Given the description of an element on the screen output the (x, y) to click on. 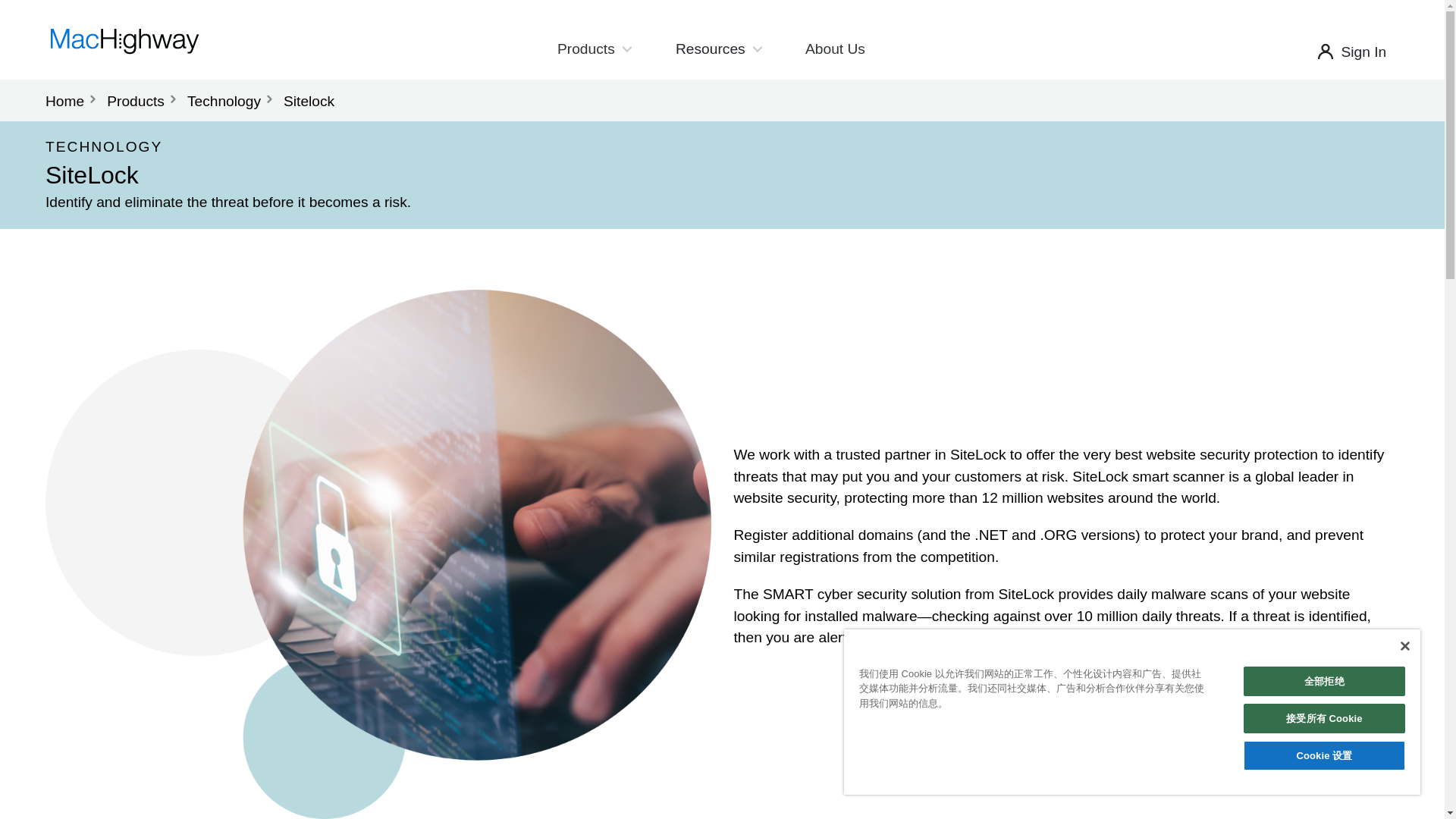
Resources (718, 48)
Products (593, 48)
About Us (834, 48)
Home (64, 100)
Sign In (1363, 51)
